Given the description of an element on the screen output the (x, y) to click on. 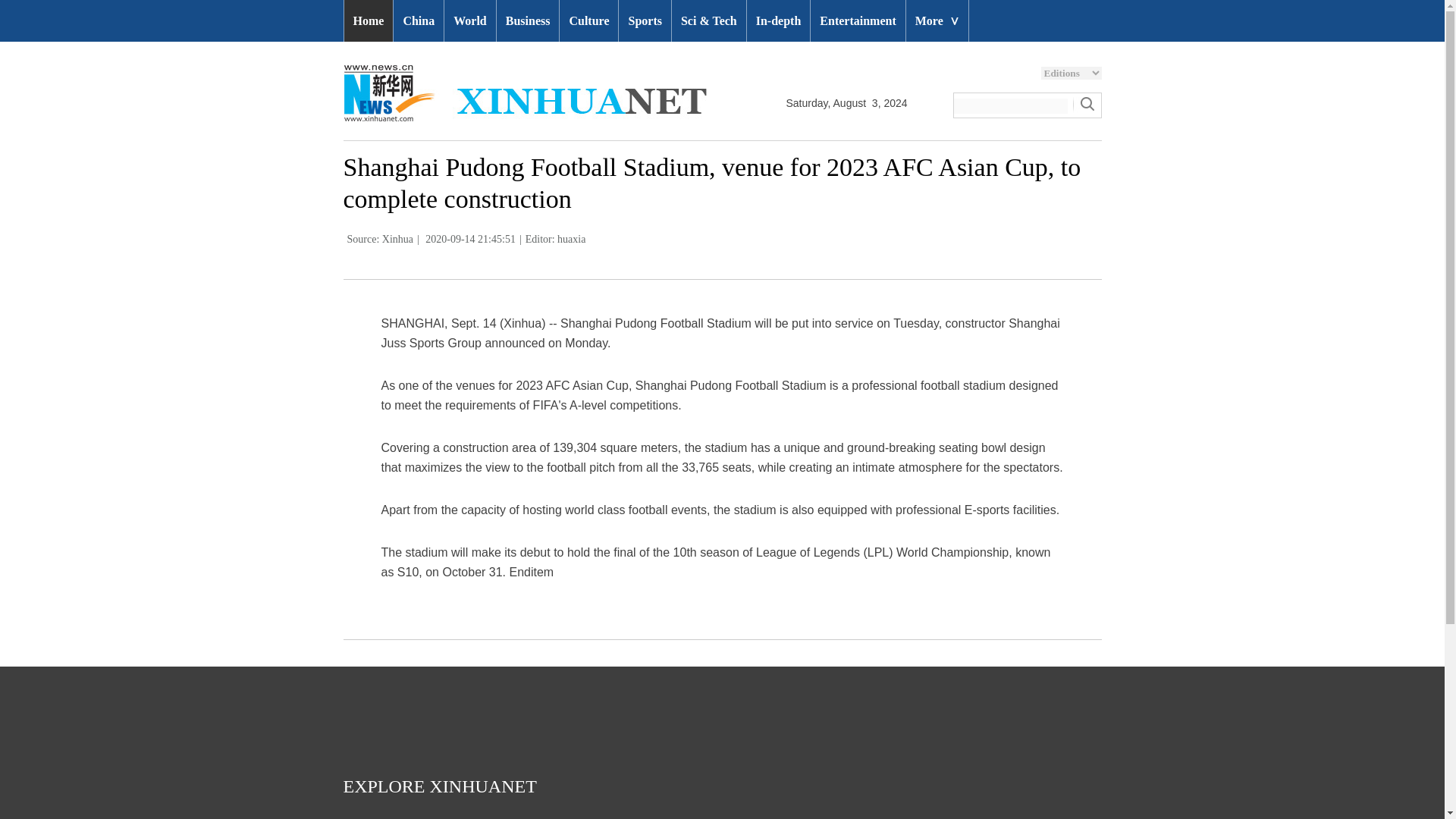
Business (527, 20)
Culture (588, 20)
Entertainment (857, 20)
Home (368, 20)
Sports (643, 20)
World (470, 20)
In-depth (778, 20)
China (418, 20)
